Given the description of an element on the screen output the (x, y) to click on. 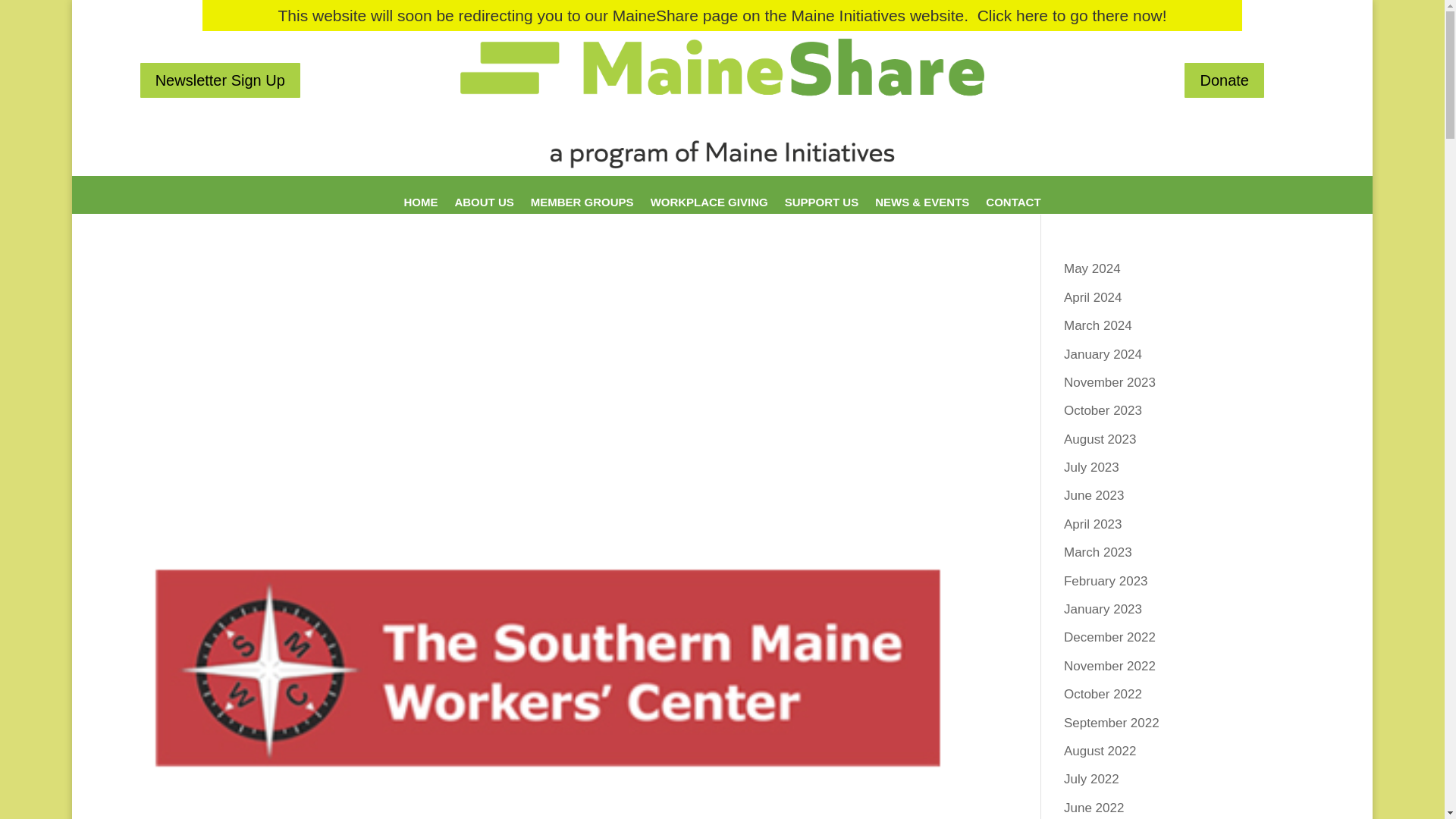
SUPPORT US (821, 212)
WORKPLACE GIVING (709, 212)
MEMBER GROUPS (582, 212)
Donate (1223, 80)
Newsletter Sign Up (219, 80)
ABOUT US (483, 212)
CONTACT (1013, 212)
HOME (420, 212)
Click here (1012, 15)
